Given the description of an element on the screen output the (x, y) to click on. 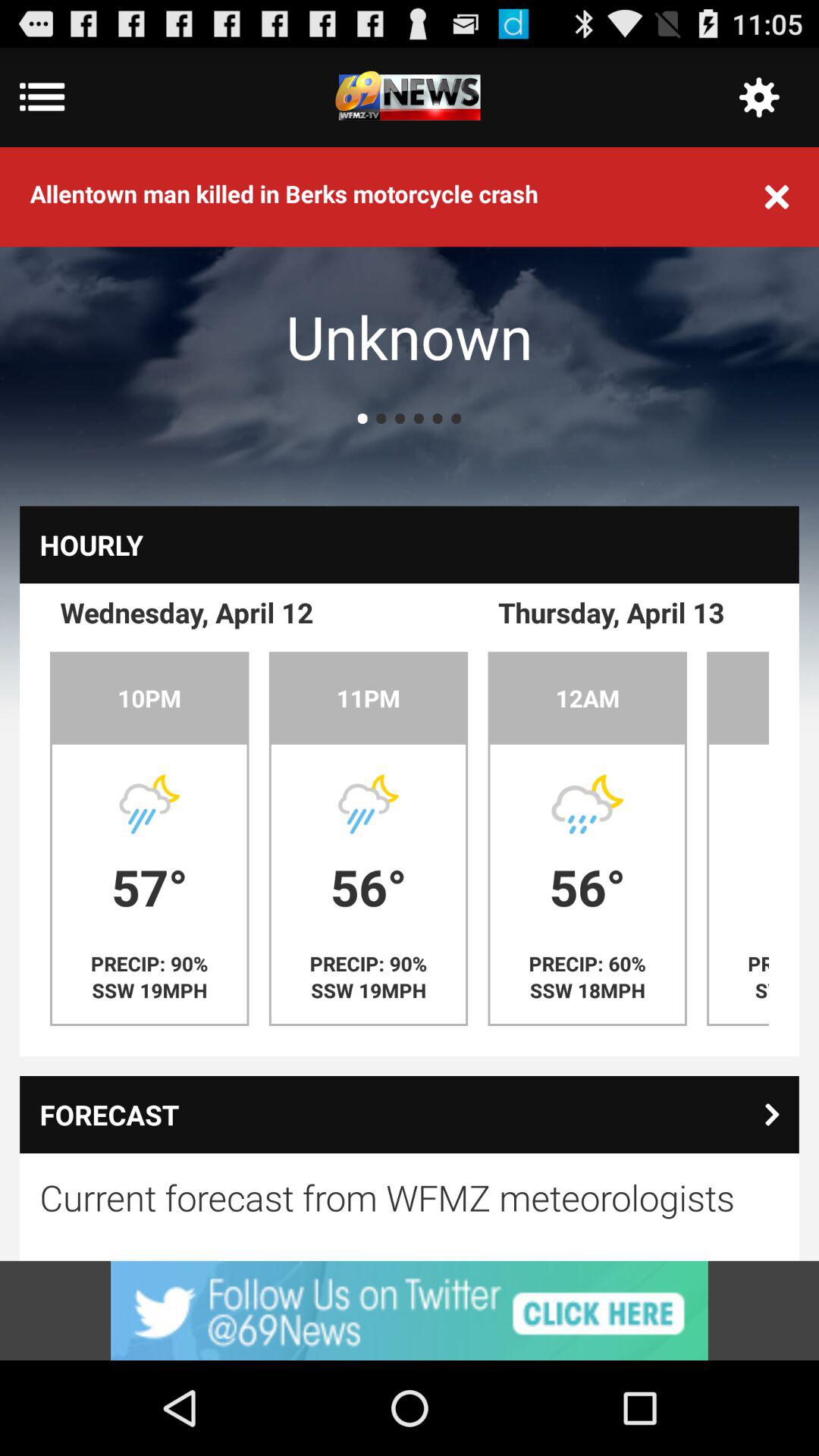
advertisement (409, 1310)
